Given the description of an element on the screen output the (x, y) to click on. 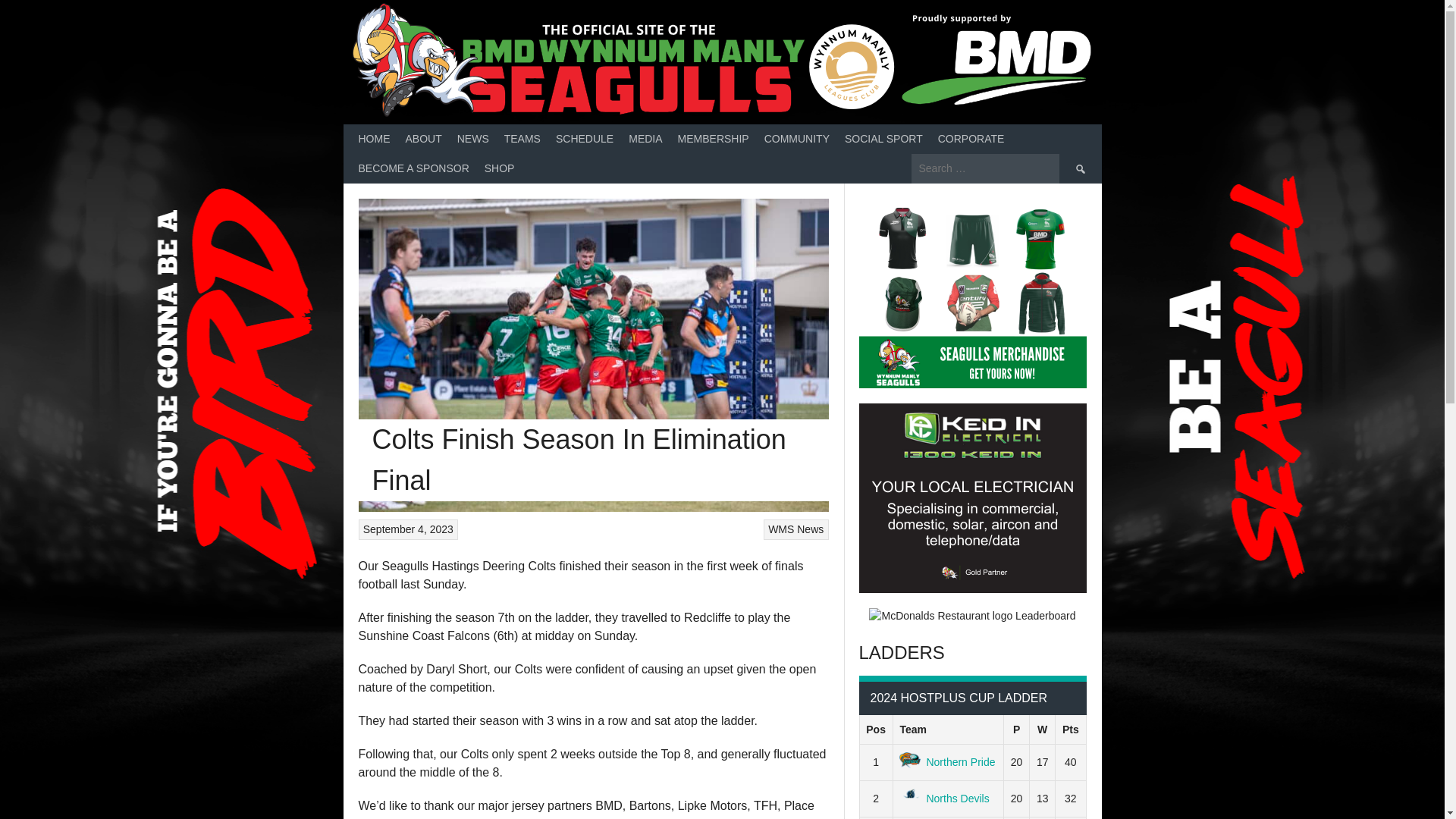
CORPORATE (970, 138)
NEWS (472, 138)
ABOUT (422, 138)
HOME (373, 138)
TEAMS (522, 138)
Search (1079, 168)
MEDIA (645, 138)
Round 19 vs Magpies (972, 293)
SCHEDULE (584, 138)
